Given the description of an element on the screen output the (x, y) to click on. 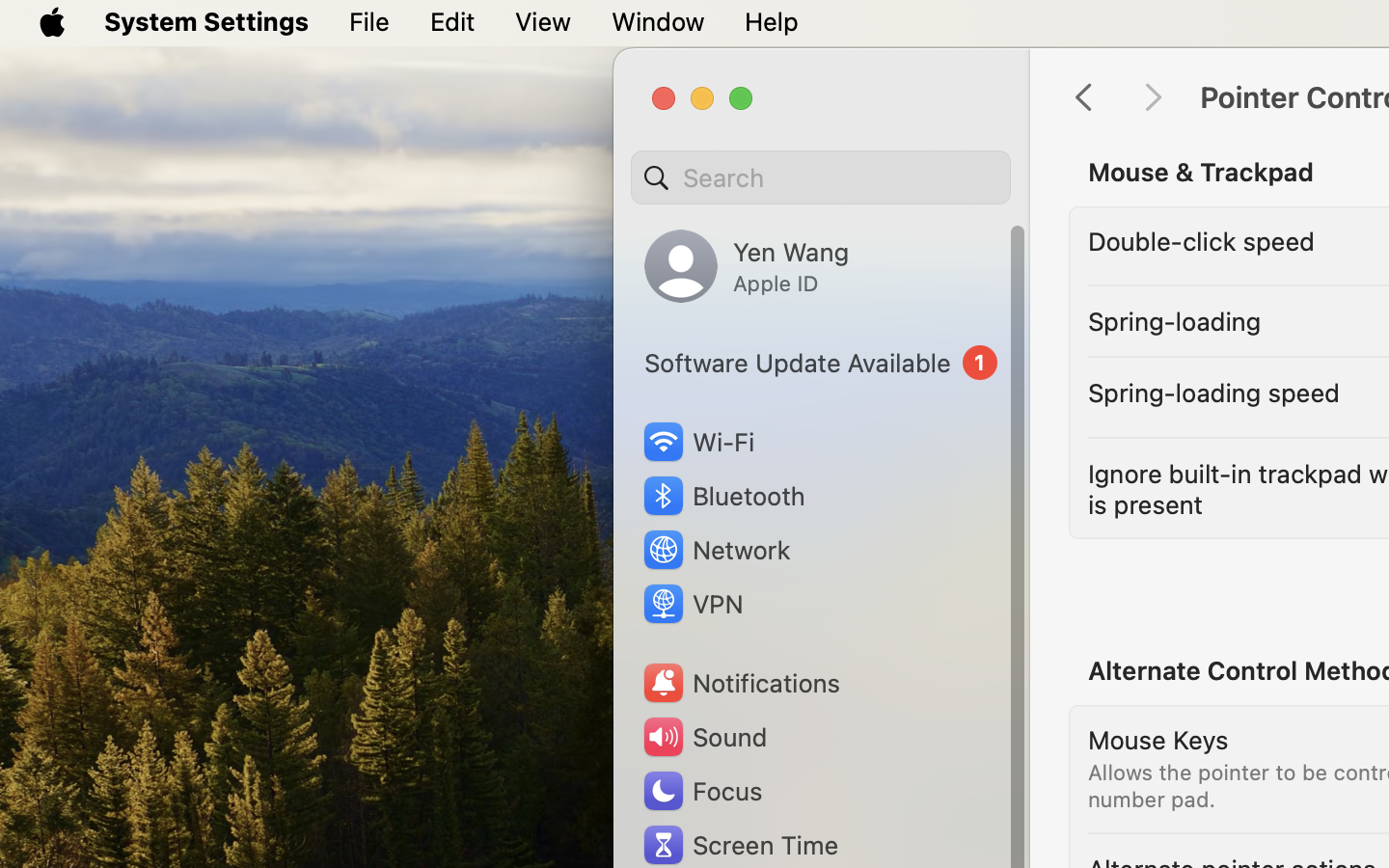
Notifications Element type: AXStaticText (740, 682)
Screen Time Element type: AXStaticText (739, 844)
Mouse Keys Element type: AXStaticText (1158, 738)
Bluetooth Element type: AXStaticText (723, 495)
Spring-loading Element type: AXStaticText (1174, 319)
